Given the description of an element on the screen output the (x, y) to click on. 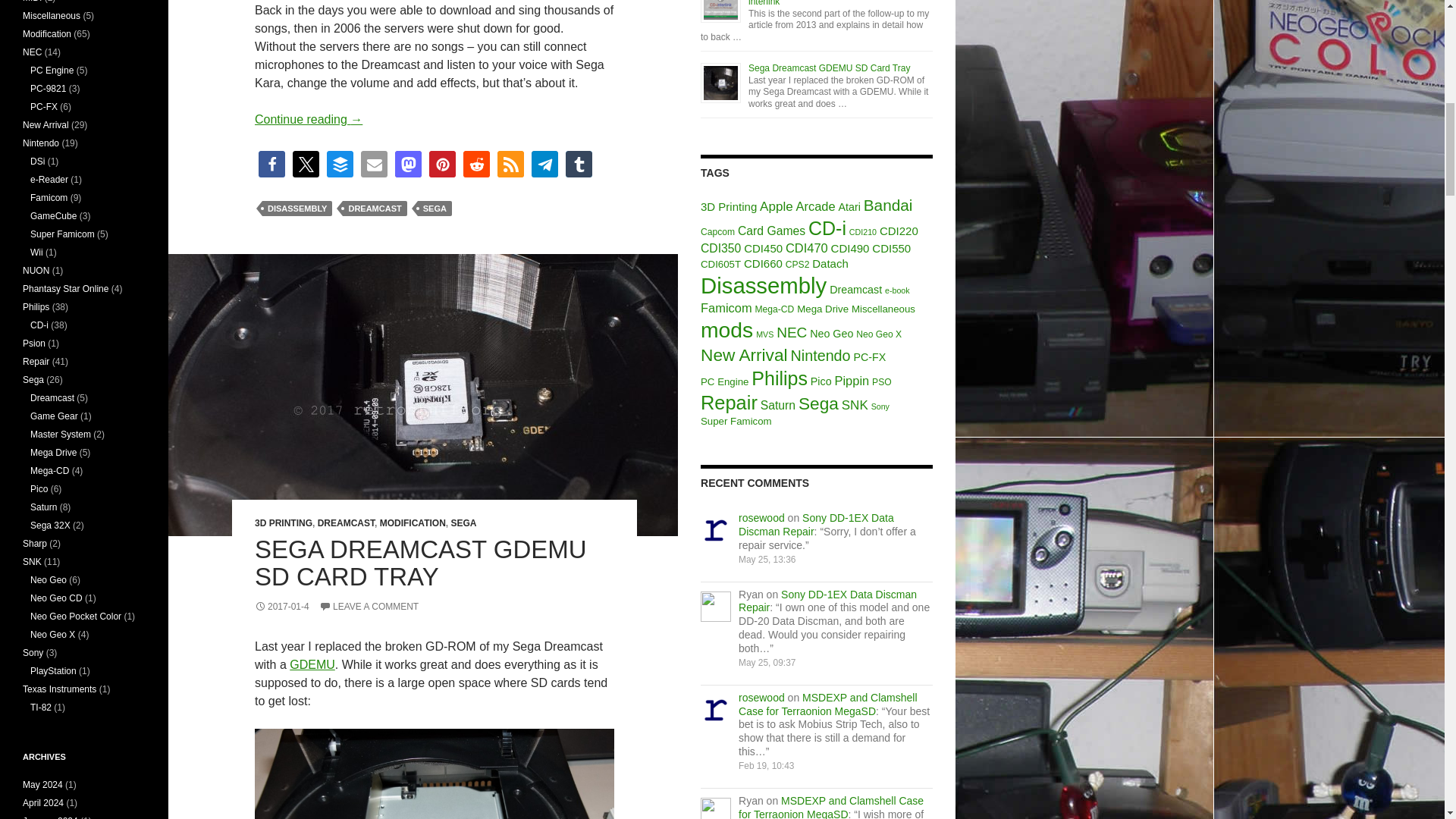
Share on Mastodon (408, 163)
RSS feed (510, 163)
Send by email (374, 163)
Share on Telegram (544, 163)
Share on buffer (339, 163)
Pin it on Pinterest (442, 163)
Share on tumblr (579, 163)
Share on Reddit (476, 163)
Share on X (305, 163)
Share on Facebook (272, 163)
